Given the description of an element on the screen output the (x, y) to click on. 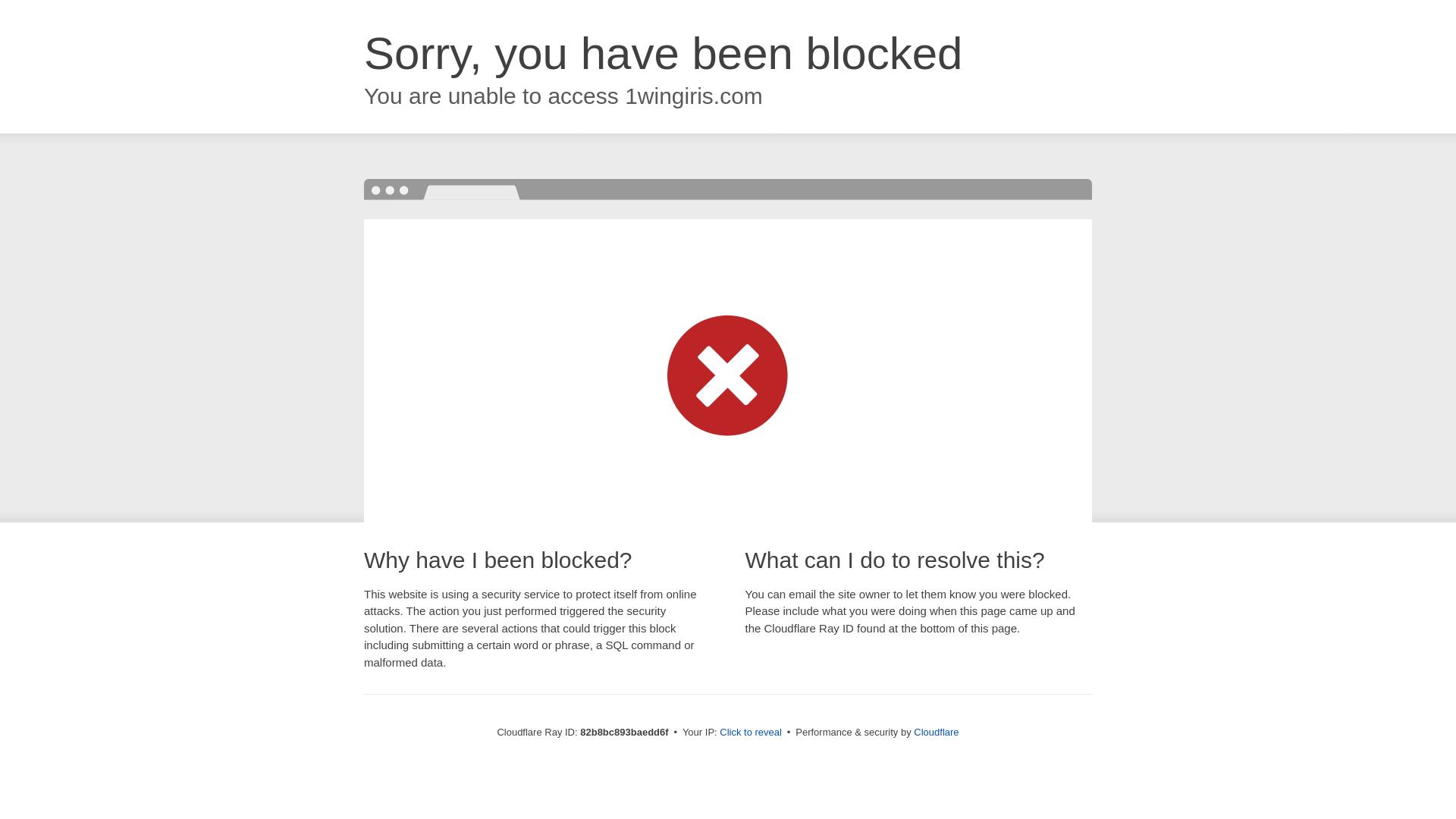
Cloudflare Element type: text (935, 731)
Click to reveal Element type: text (750, 732)
